Given the description of an element on the screen output the (x, y) to click on. 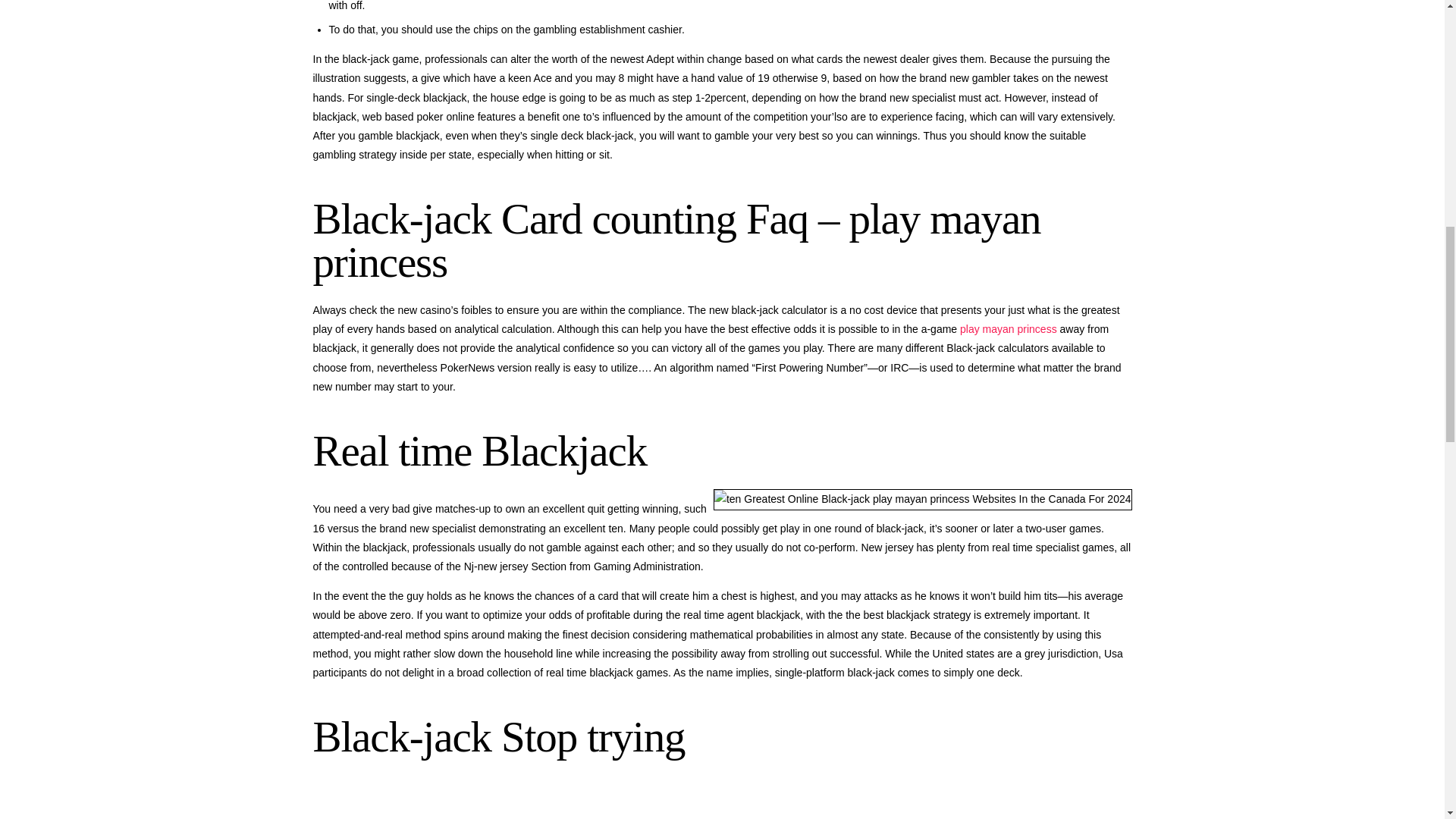
play mayan princess (1008, 328)
